Given the description of an element on the screen output the (x, y) to click on. 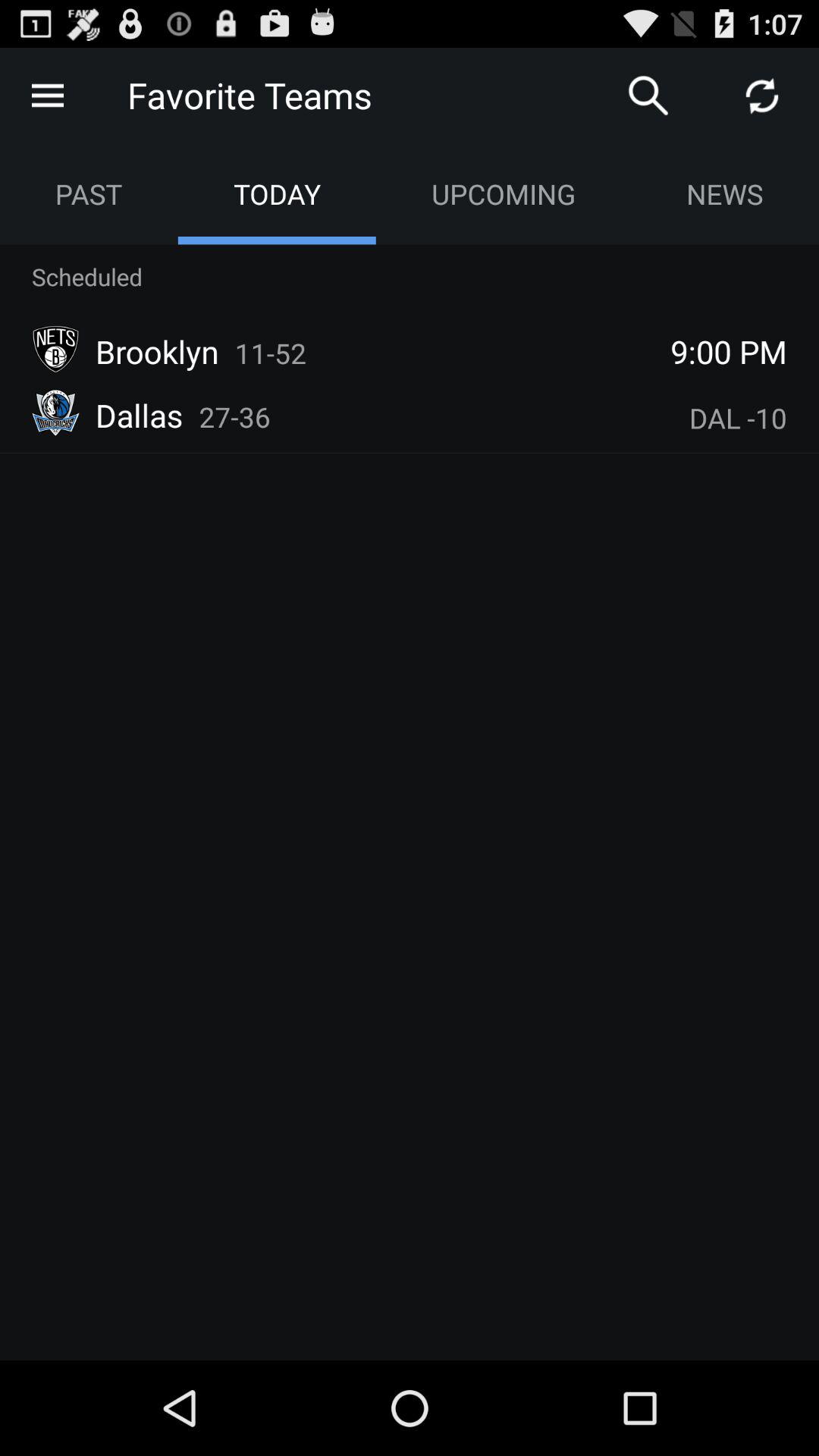
select brooklyn (156, 351)
